Given the description of an element on the screen output the (x, y) to click on. 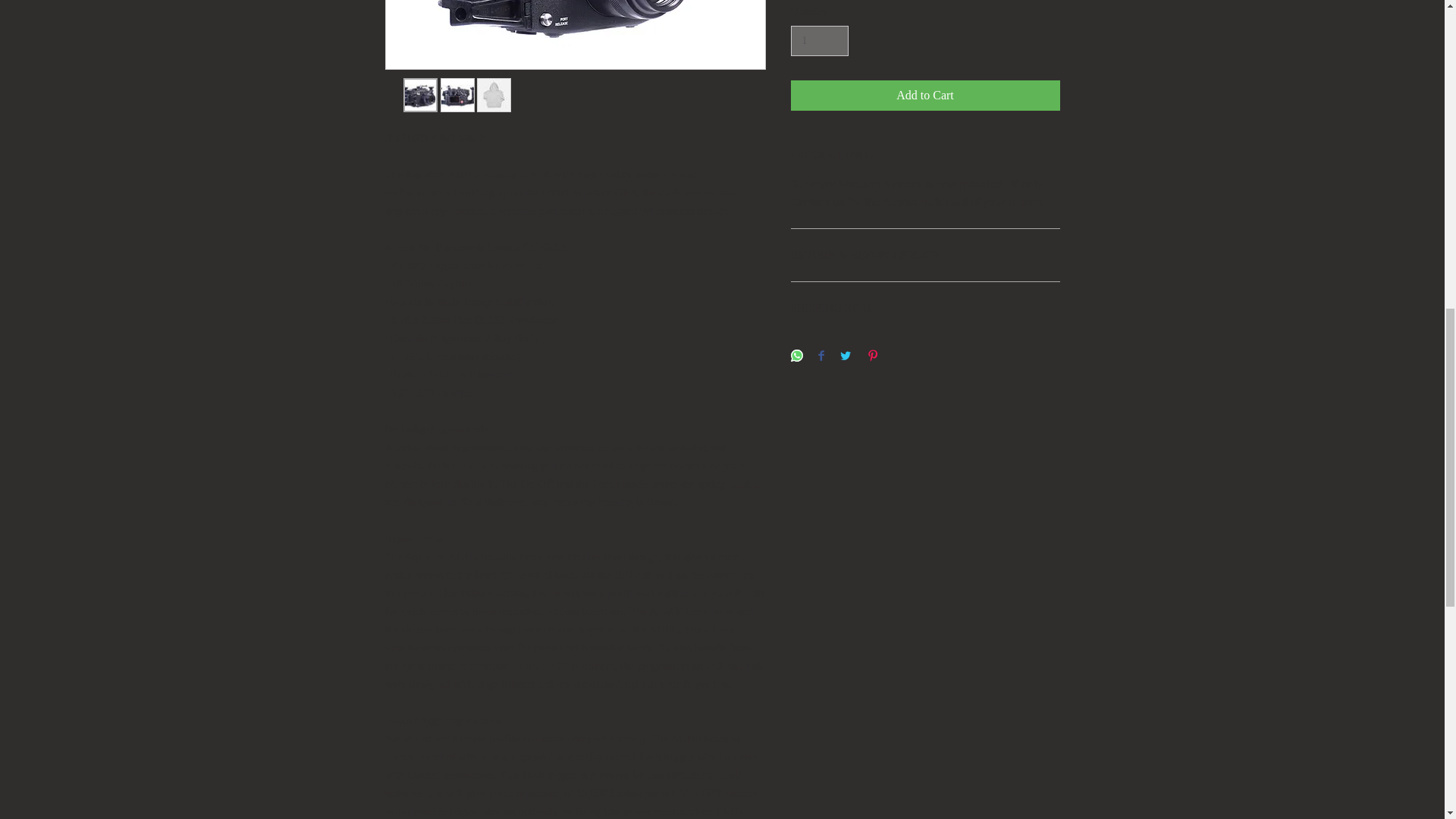
PRODUCT INFO (924, 154)
1 (818, 40)
Add to Cart (924, 95)
SHIPPING INFO (924, 308)
